Given the description of an element on the screen output the (x, y) to click on. 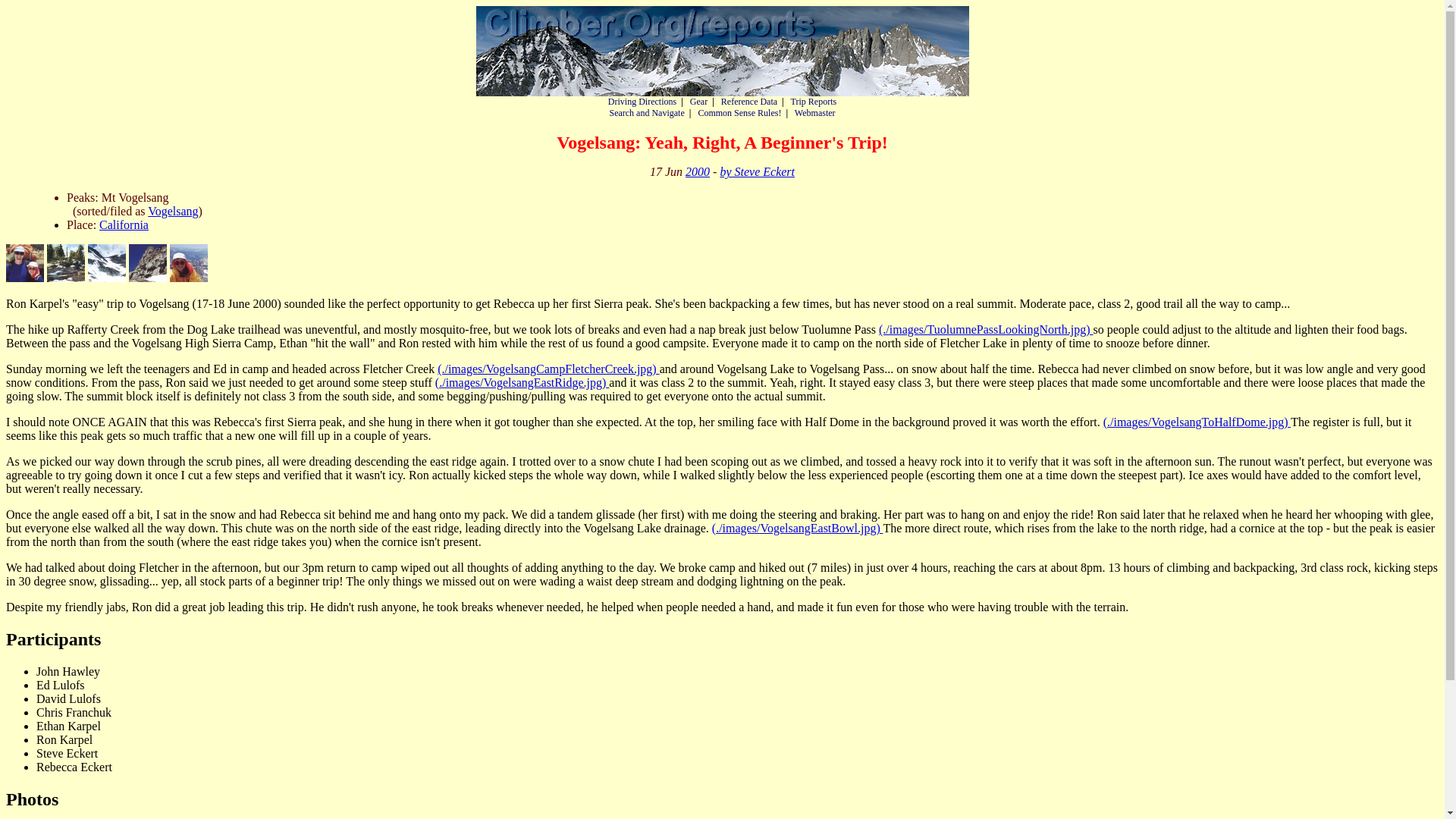
Climber.Org Home Page (722, 50)
Reference Data (748, 101)
Trip Reports (813, 101)
by Steve Eckert (756, 171)
Driving Directions (642, 101)
Common Sense Rules! (738, 112)
Gear (698, 101)
2000 (697, 171)
California (123, 224)
Search and Navigate (646, 112)
Webmaster (814, 112)
Vogelsang (173, 210)
